Given the description of an element on the screen output the (x, y) to click on. 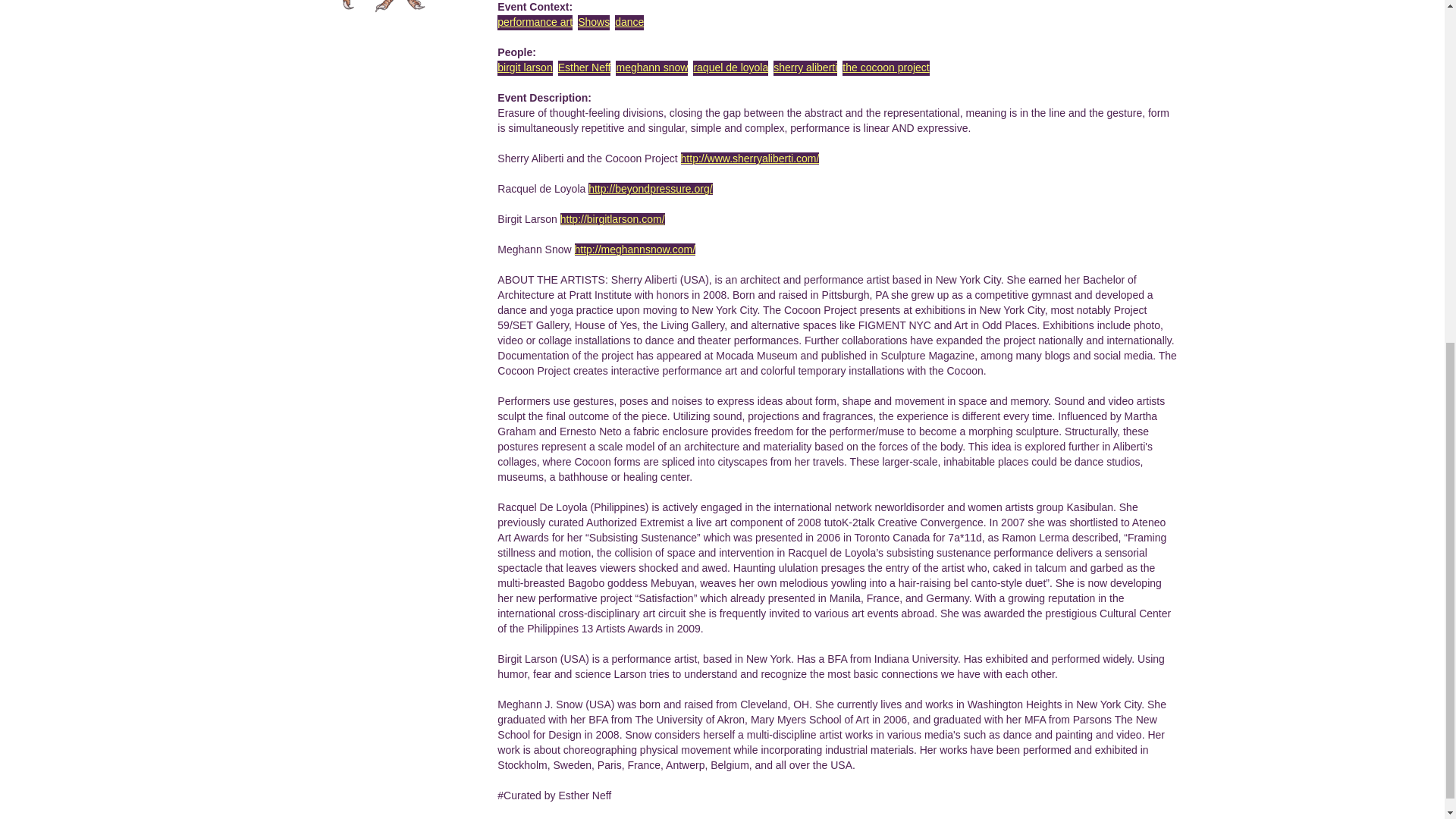
Esther Neff (584, 67)
birgit larson (524, 67)
meghann snow (651, 67)
raquel de loyola (730, 67)
Shows (594, 21)
the cocoon project (885, 67)
performance art (534, 21)
sherry aliberti (805, 67)
dance (628, 21)
